Given the description of an element on the screen output the (x, y) to click on. 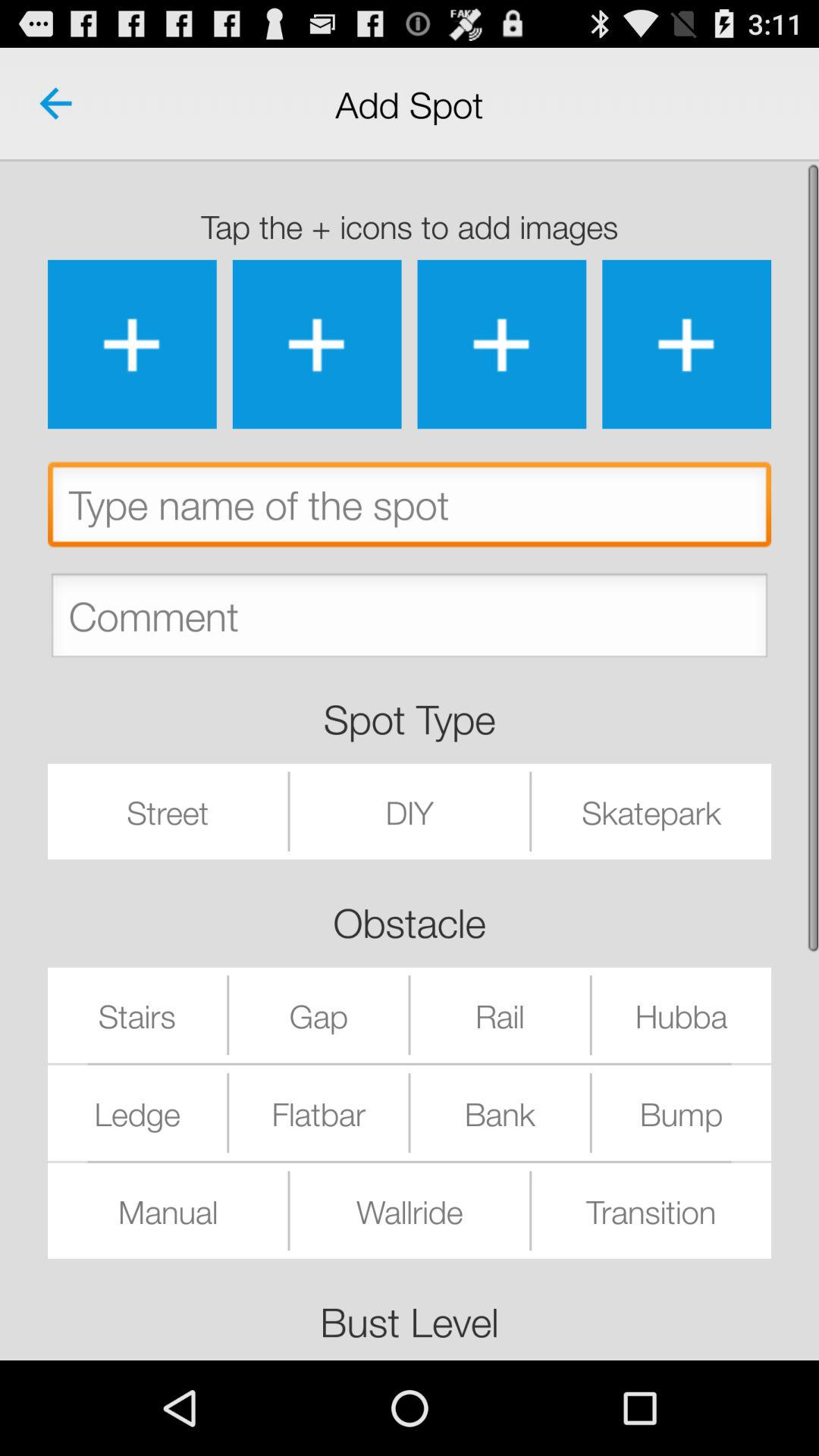
add images (501, 343)
